Given the description of an element on the screen output the (x, y) to click on. 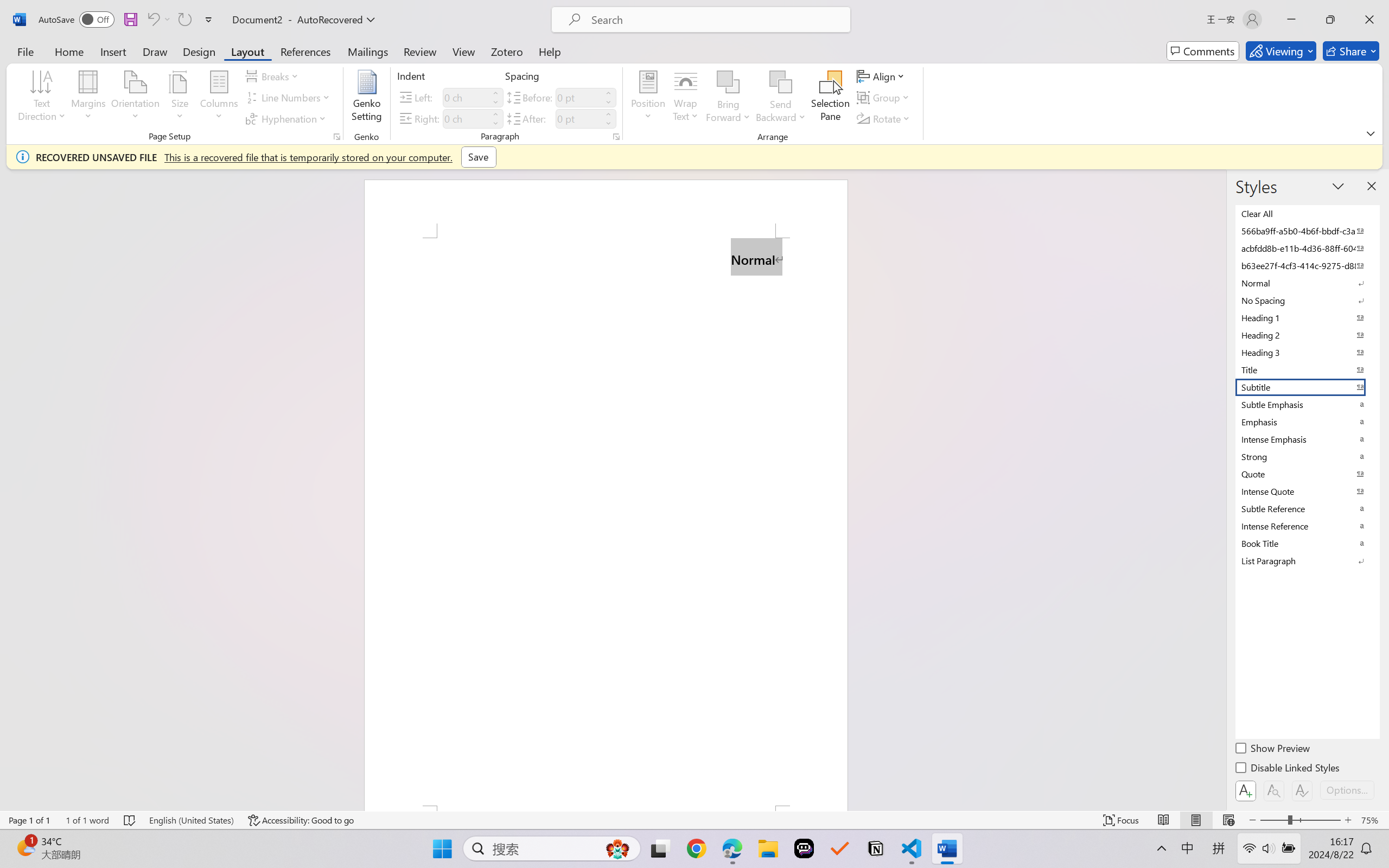
Paragraph... (615, 136)
Subtle Emphasis (1306, 404)
Hyphenation (287, 118)
More (608, 113)
Class: NetUIScrollBar (1219, 489)
Strong (1306, 456)
Task Pane Options (1338, 185)
Intense Quote (1306, 490)
Spacing After (578, 118)
Title (1306, 369)
